Given the description of an element on the screen output the (x, y) to click on. 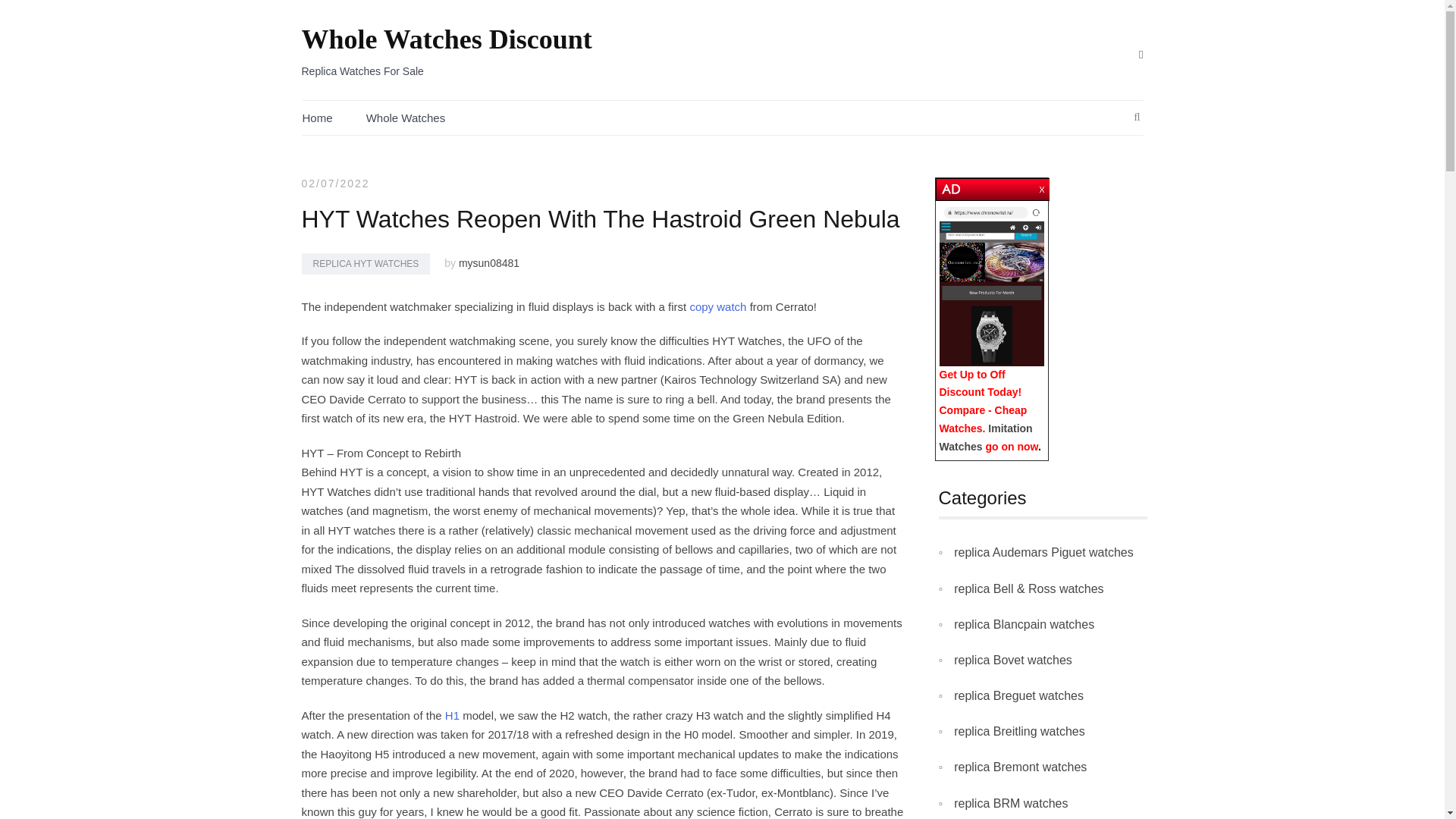
REPLICA HYT WATCHES (365, 263)
replica Audemars Piguet watches (1043, 552)
copy watch (716, 306)
Imitation Watches (985, 437)
mysun08481 (488, 263)
replica BRM watches (1010, 803)
H1 (454, 715)
Click Now (991, 284)
replica Breguet watches (1018, 695)
replica Breitling watches (1018, 731)
Whole Watches Discount (446, 39)
replica Blancpain watches (1023, 624)
replica Bremont watches (1019, 766)
